Given the description of an element on the screen output the (x, y) to click on. 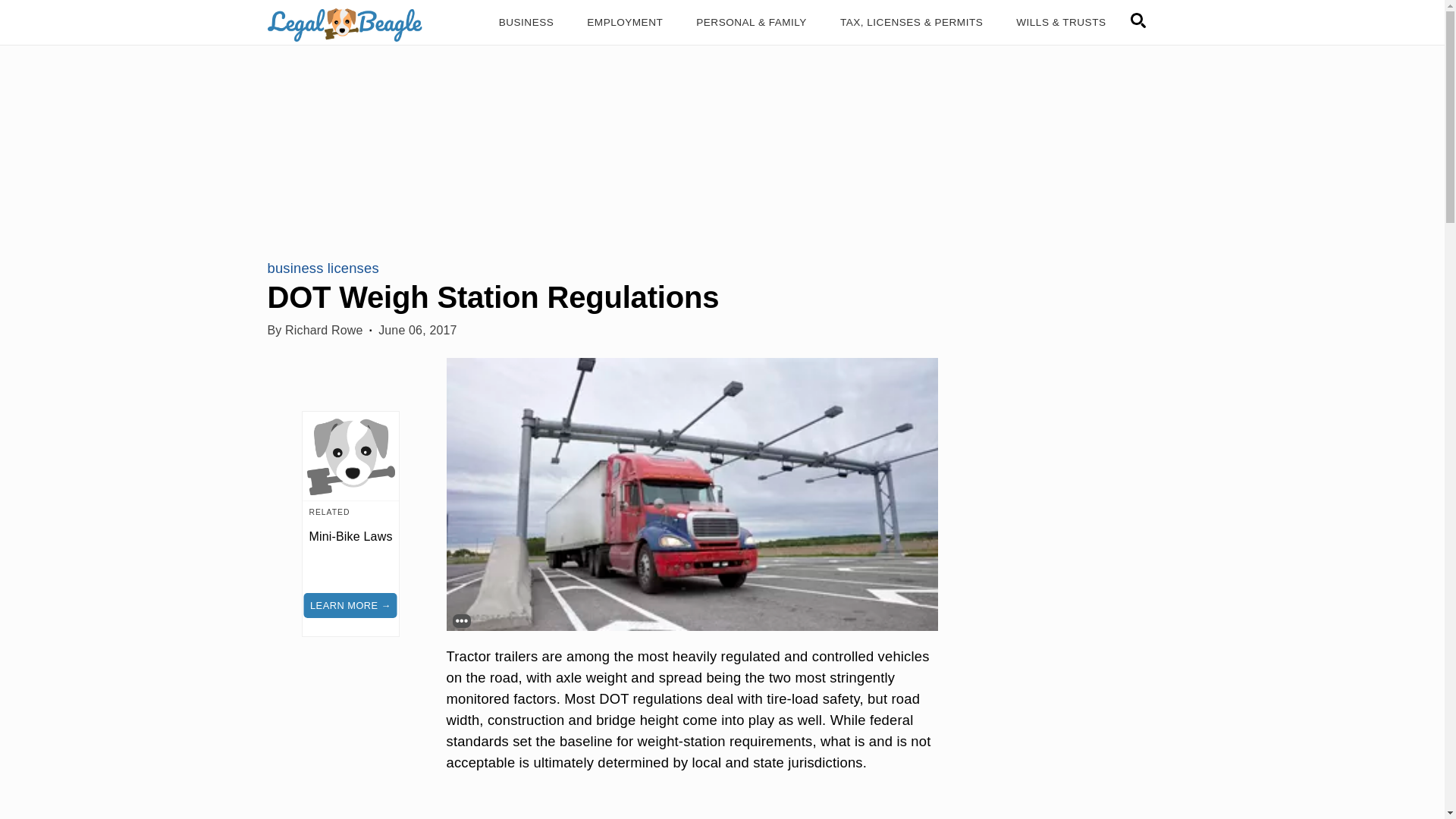
Advertisement (691, 808)
BUSINESS (526, 22)
EMPLOYMENT (624, 22)
